Given the description of an element on the screen output the (x, y) to click on. 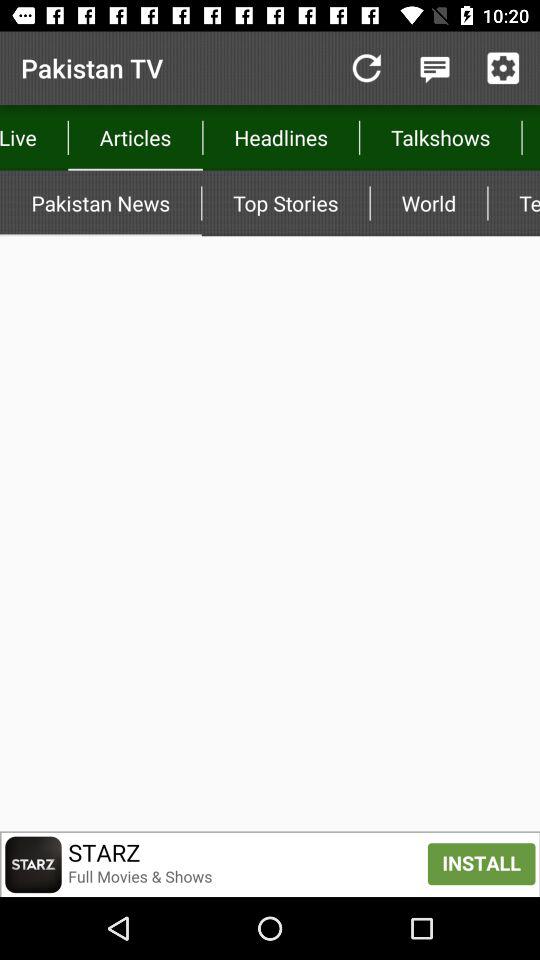
select the app to the left of the talkshows app (280, 137)
